Given the description of an element on the screen output the (x, y) to click on. 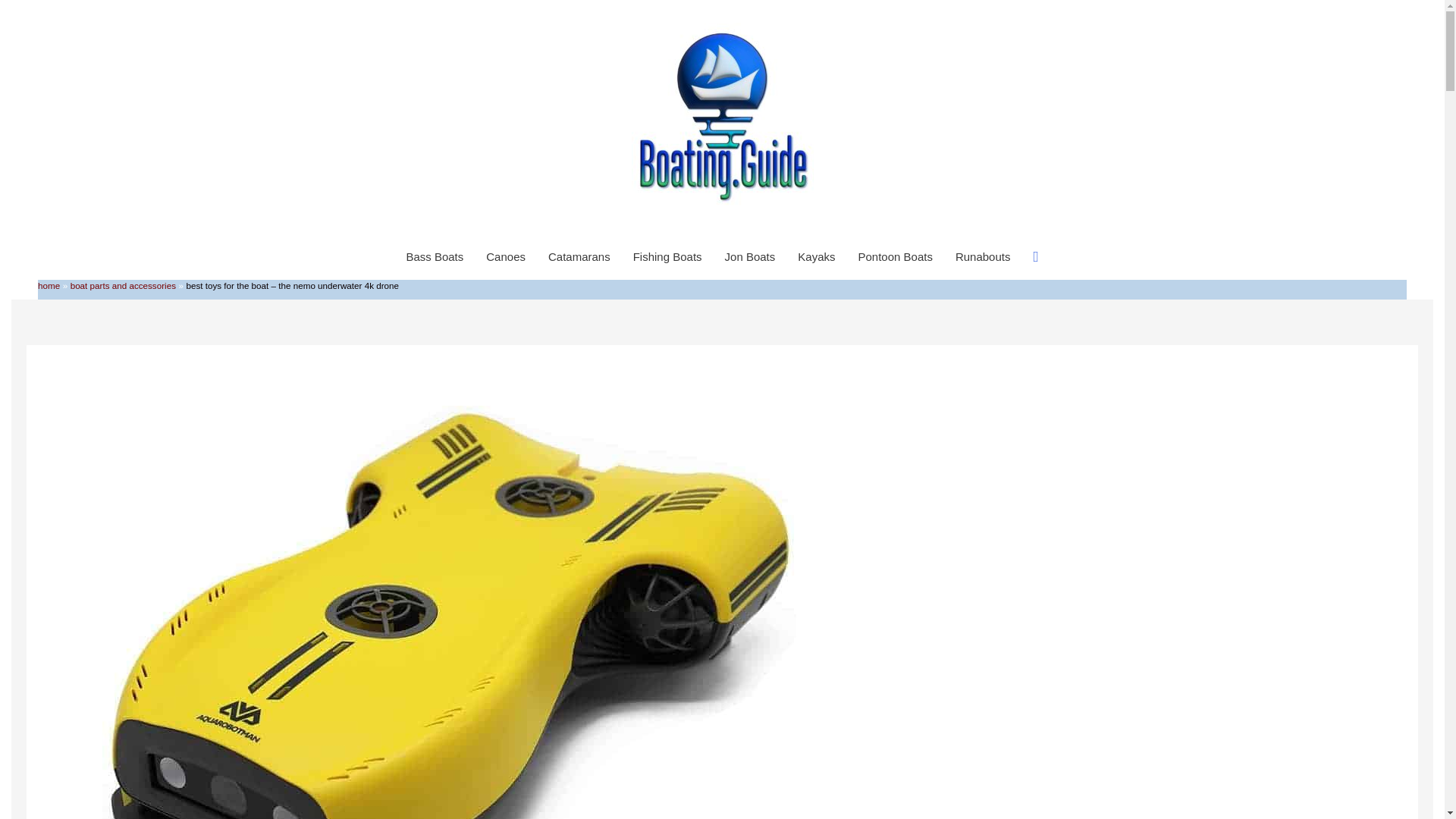
Runabouts (982, 257)
Bass Boats (434, 257)
Pontoon Boats (894, 257)
home (48, 285)
Kayaks (815, 257)
Jon Boats (750, 257)
Canoes (505, 257)
boat parts and accessories (122, 285)
Fishing Boats (667, 257)
Catamarans (579, 257)
